Given the description of an element on the screen output the (x, y) to click on. 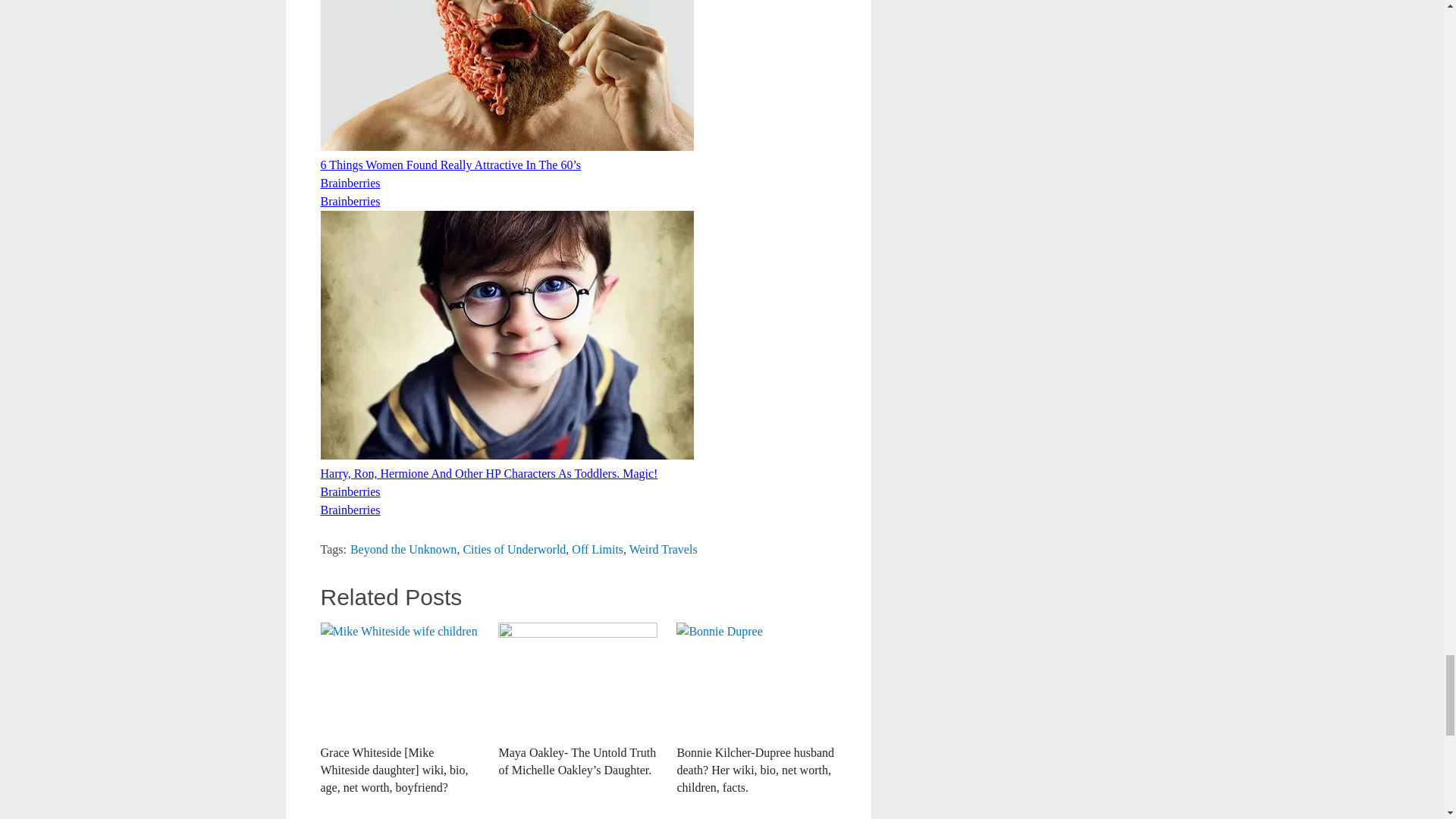
Beyond the Unknown (403, 549)
Weird Travels (662, 549)
Cities of Underworld (514, 549)
Off Limits (597, 549)
